Given the description of an element on the screen output the (x, y) to click on. 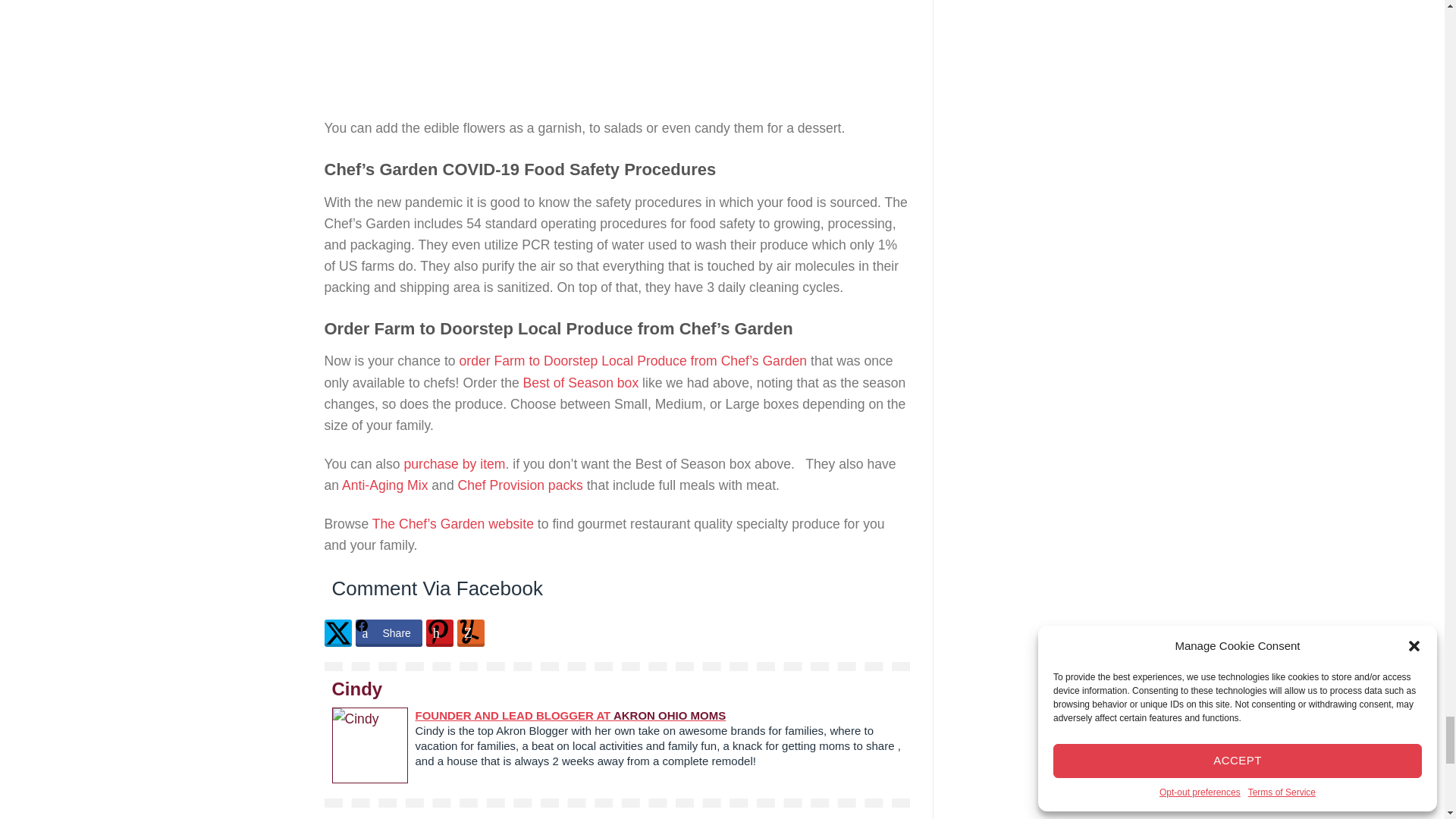
Share on Share (388, 633)
Share on - (338, 633)
Share on - (439, 633)
